Given the description of an element on the screen output the (x, y) to click on. 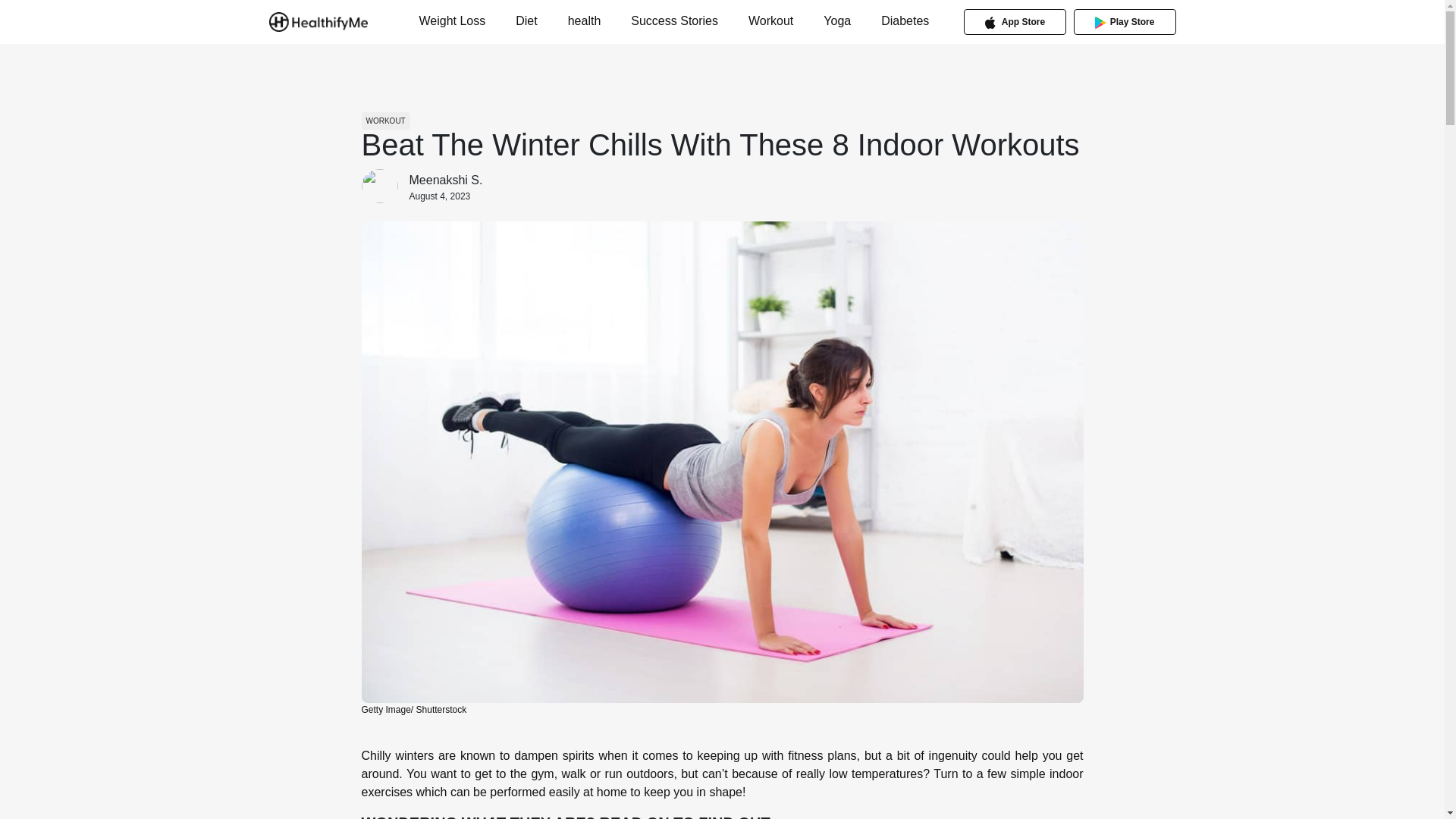
Diet (526, 20)
Yoga (837, 20)
Diabetes (904, 20)
health (584, 20)
Workout (770, 20)
App Store (1015, 21)
Play Store (1124, 21)
Play Store (1125, 22)
App Store (1014, 22)
Weight Loss (451, 20)
